Given the description of an element on the screen output the (x, y) to click on. 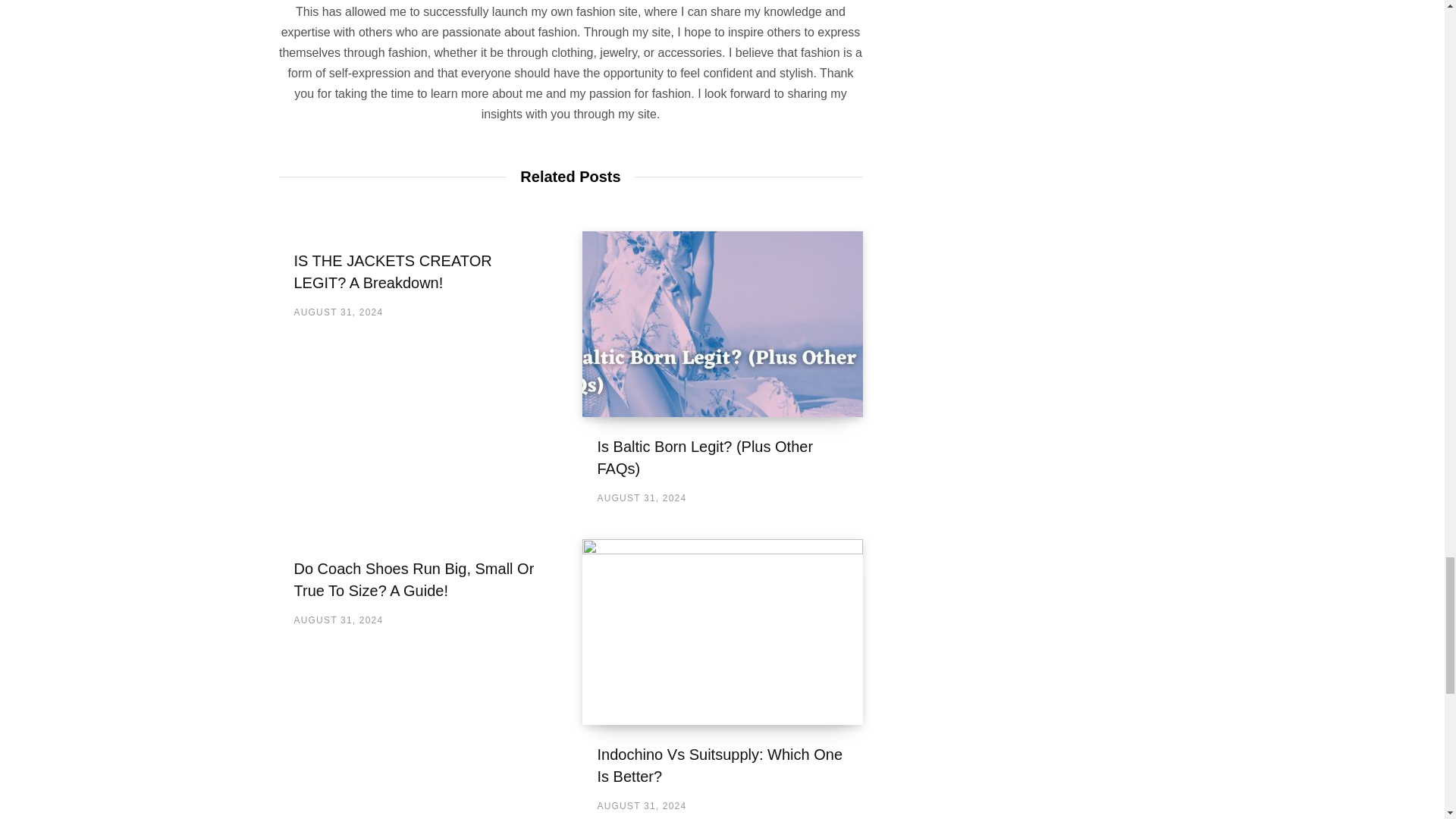
Indochino Vs Suitsupply: Which One Is Better? (722, 631)
Do Coach Shoes Run Big, Small Or True To Size? A Guide! (414, 579)
IS THE JACKETS CREATOR LEGIT? A Breakdown! (393, 271)
Indochino Vs Suitsupply: Which One Is Better? (719, 765)
